Given the description of an element on the screen output the (x, y) to click on. 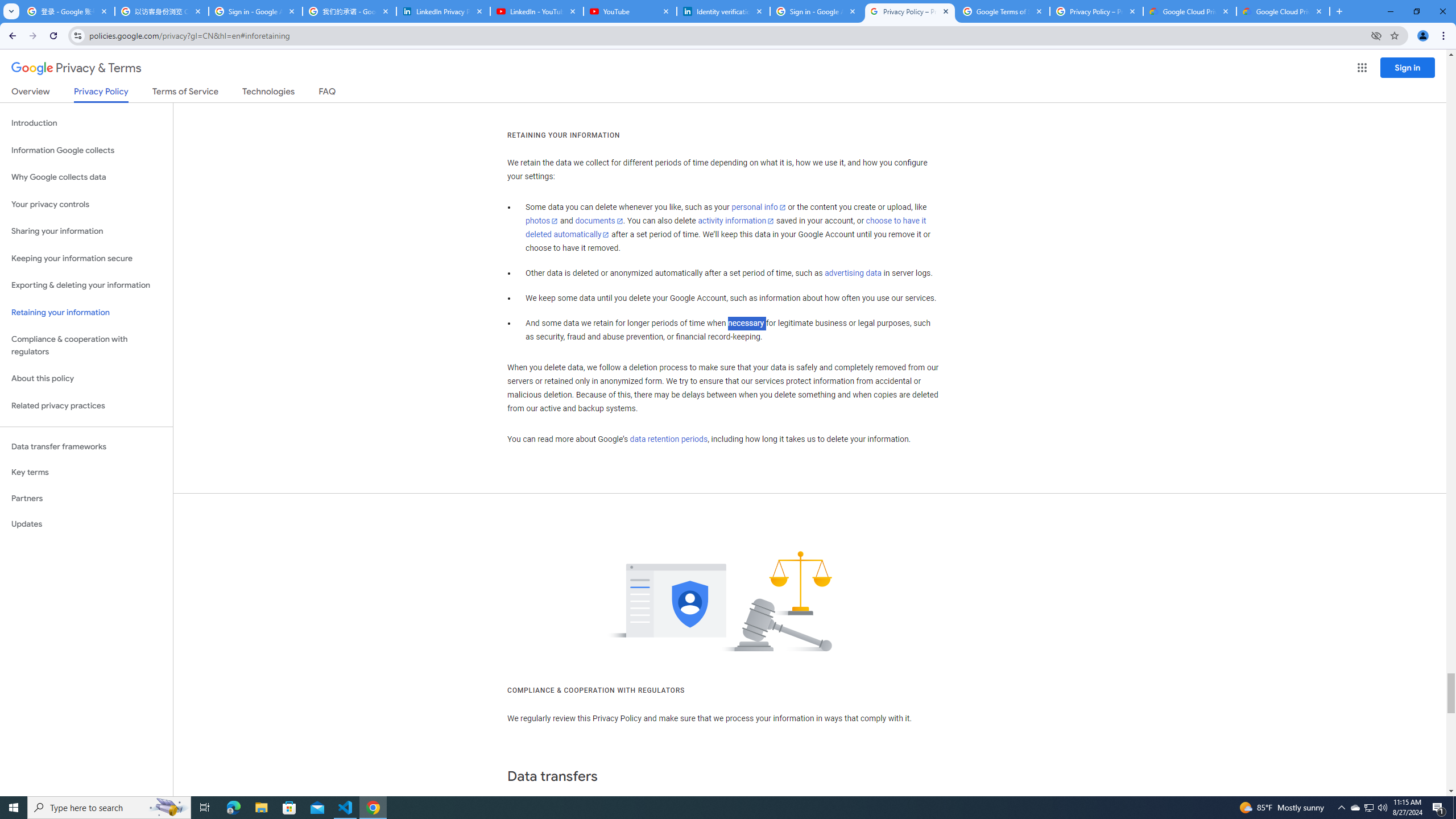
YouTube (629, 11)
Google Cloud Privacy Notice (1189, 11)
Related privacy practices (86, 405)
Your privacy controls (86, 204)
advertising data (852, 273)
Key terms (86, 472)
documents (599, 221)
data retention periods (667, 439)
